Given the description of an element on the screen output the (x, y) to click on. 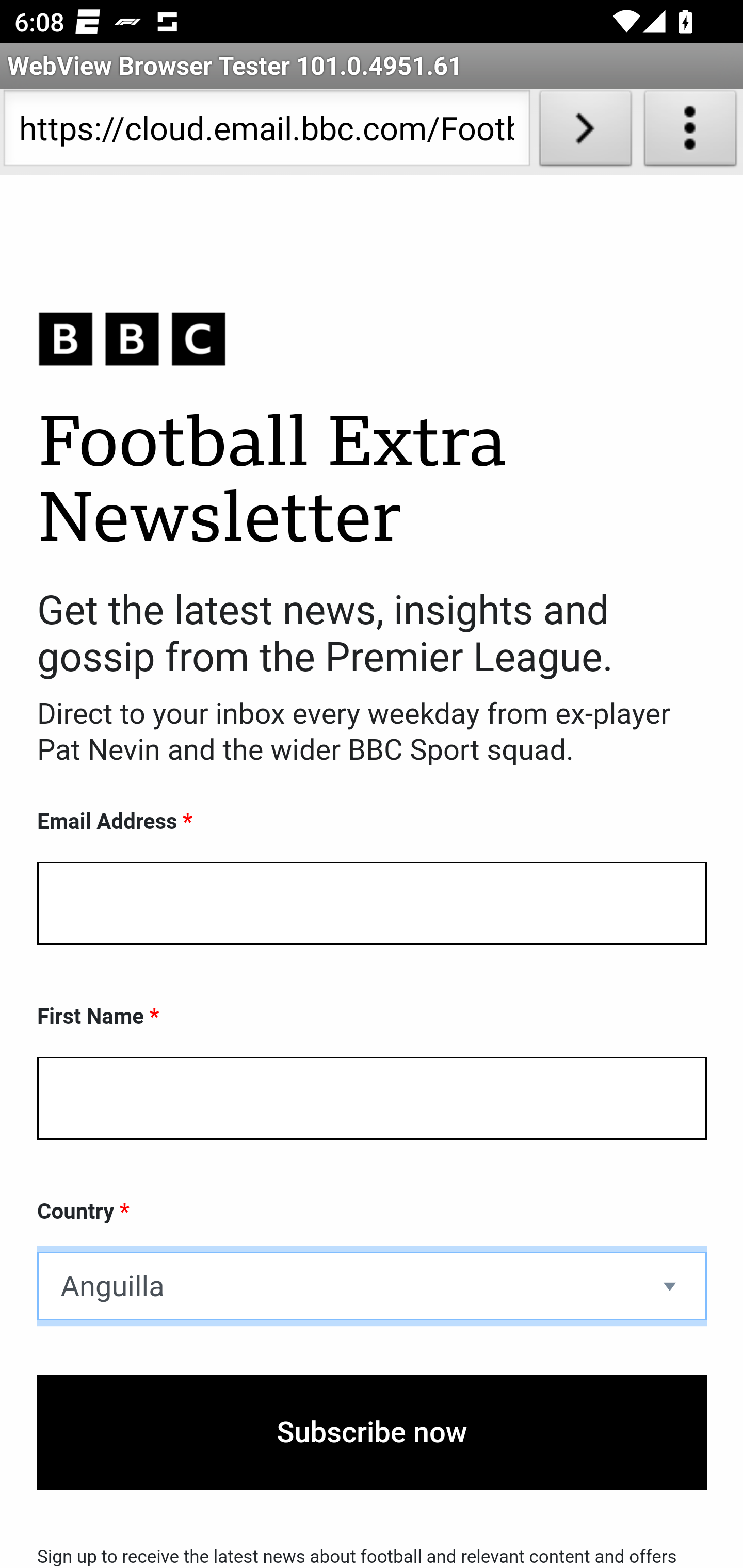
Load URL (585, 132)
About WebView (690, 132)
BBC (372, 338)
Anguilla (372, 1286)
Subscribe now (372, 1432)
